Given the description of an element on the screen output the (x, y) to click on. 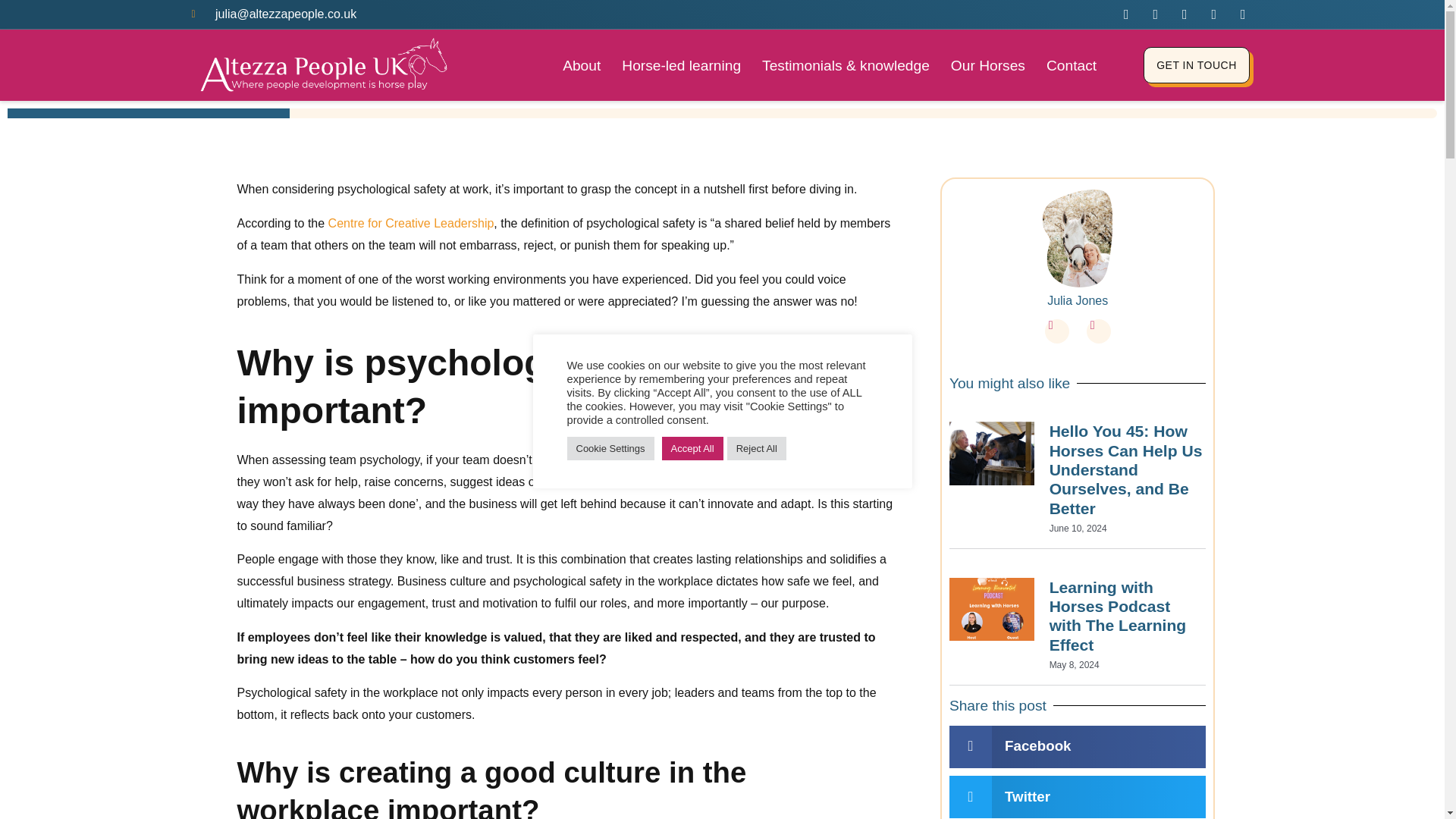
About (581, 65)
Contact (1071, 65)
GET IN TOUCH (1195, 64)
Twitter (1098, 331)
Centre for Creative Leadership (412, 223)
Horse-led learning (681, 65)
Linkedin-in (1056, 331)
Learning with Horses Podcast with The Learning Effect (1117, 615)
Our Horses (987, 65)
